Given the description of an element on the screen output the (x, y) to click on. 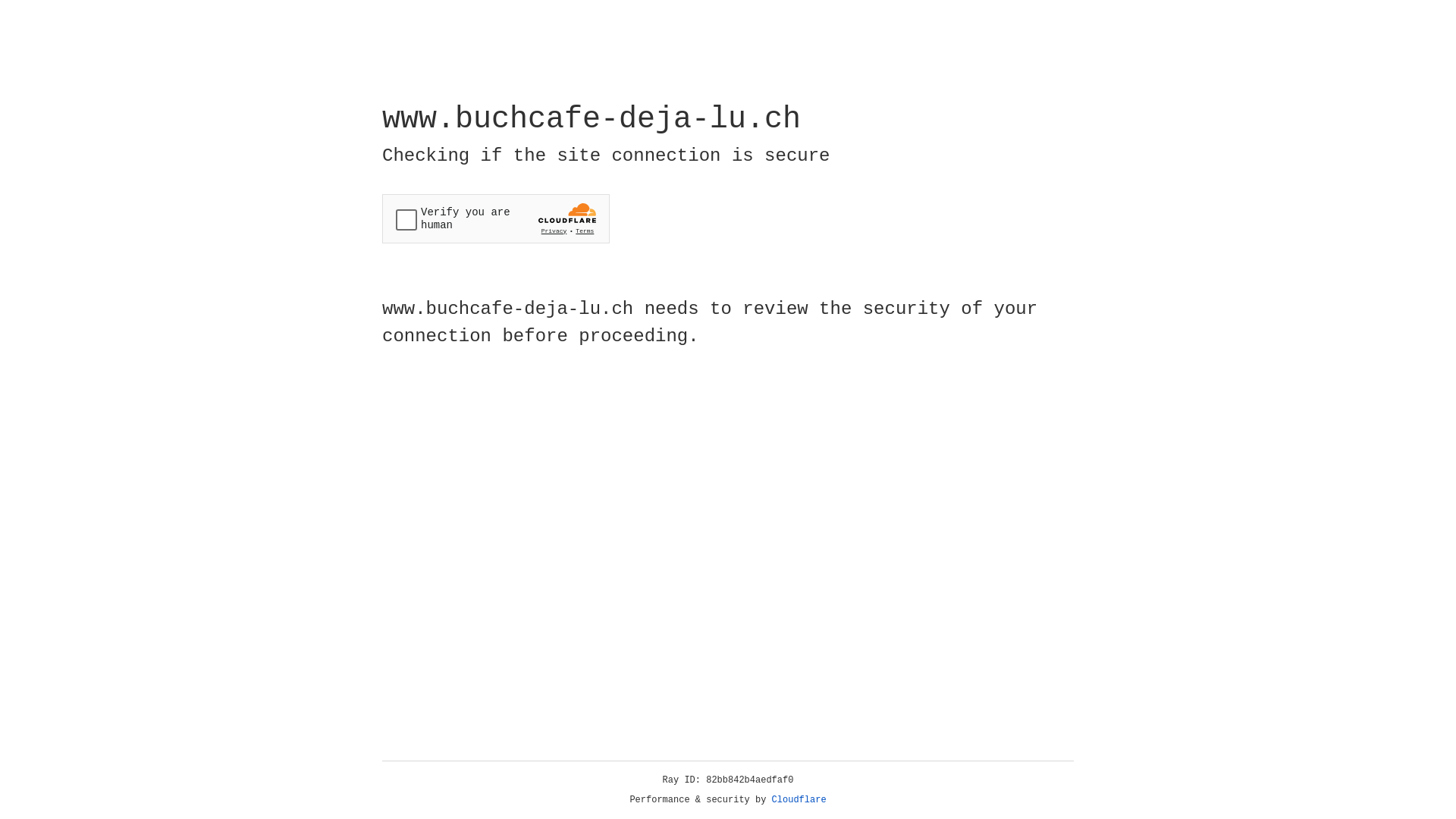
Cloudflare Element type: text (798, 799)
Widget containing a Cloudflare security challenge Element type: hover (495, 218)
